Given the description of an element on the screen output the (x, y) to click on. 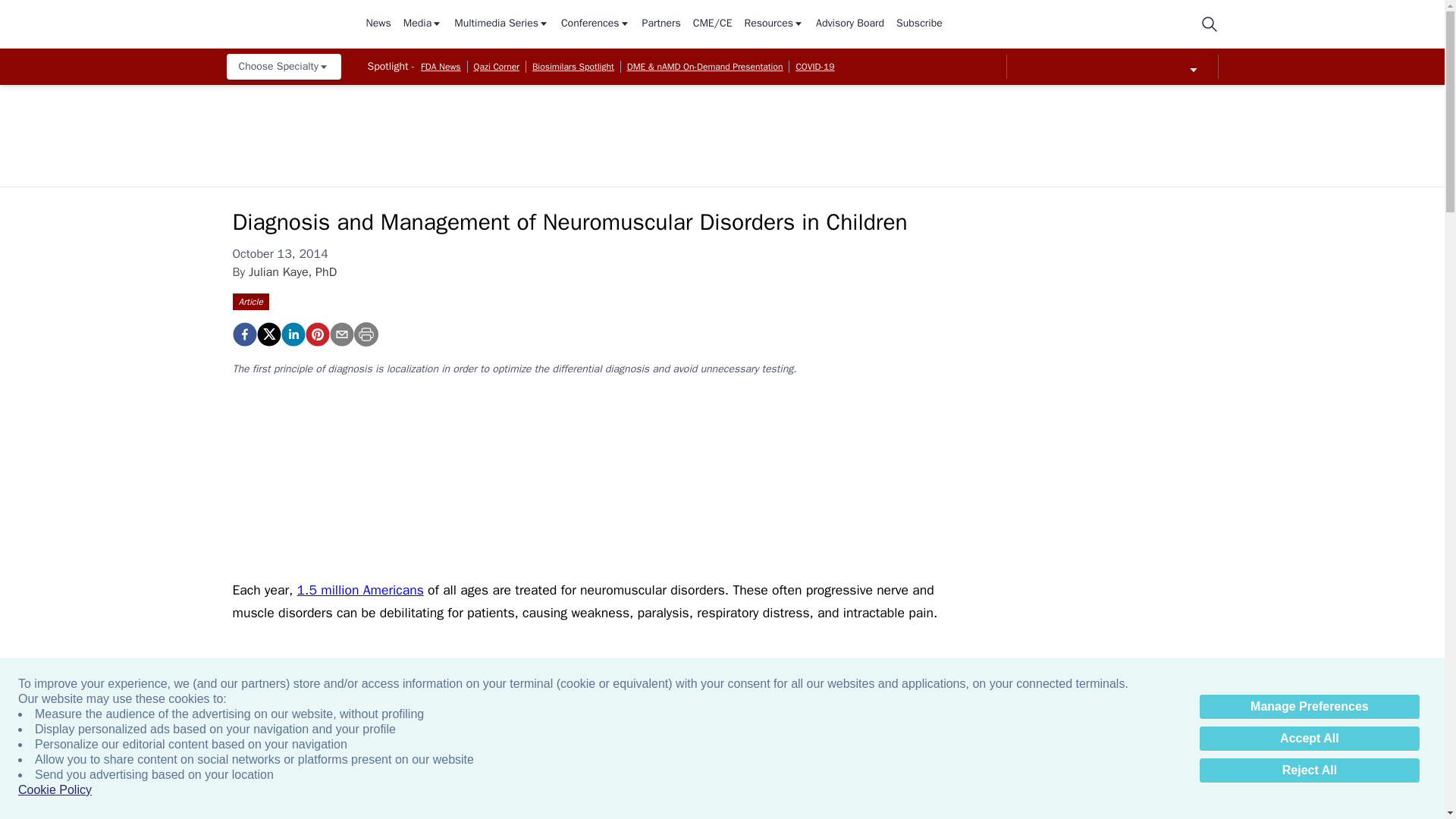
Cookie Policy (54, 789)
Conferences (595, 23)
Partners (661, 23)
Multimedia Series (501, 23)
Resources (773, 23)
Manage Preferences (1309, 706)
Accept All (1309, 738)
Subscribe (919, 23)
